Given the description of an element on the screen output the (x, y) to click on. 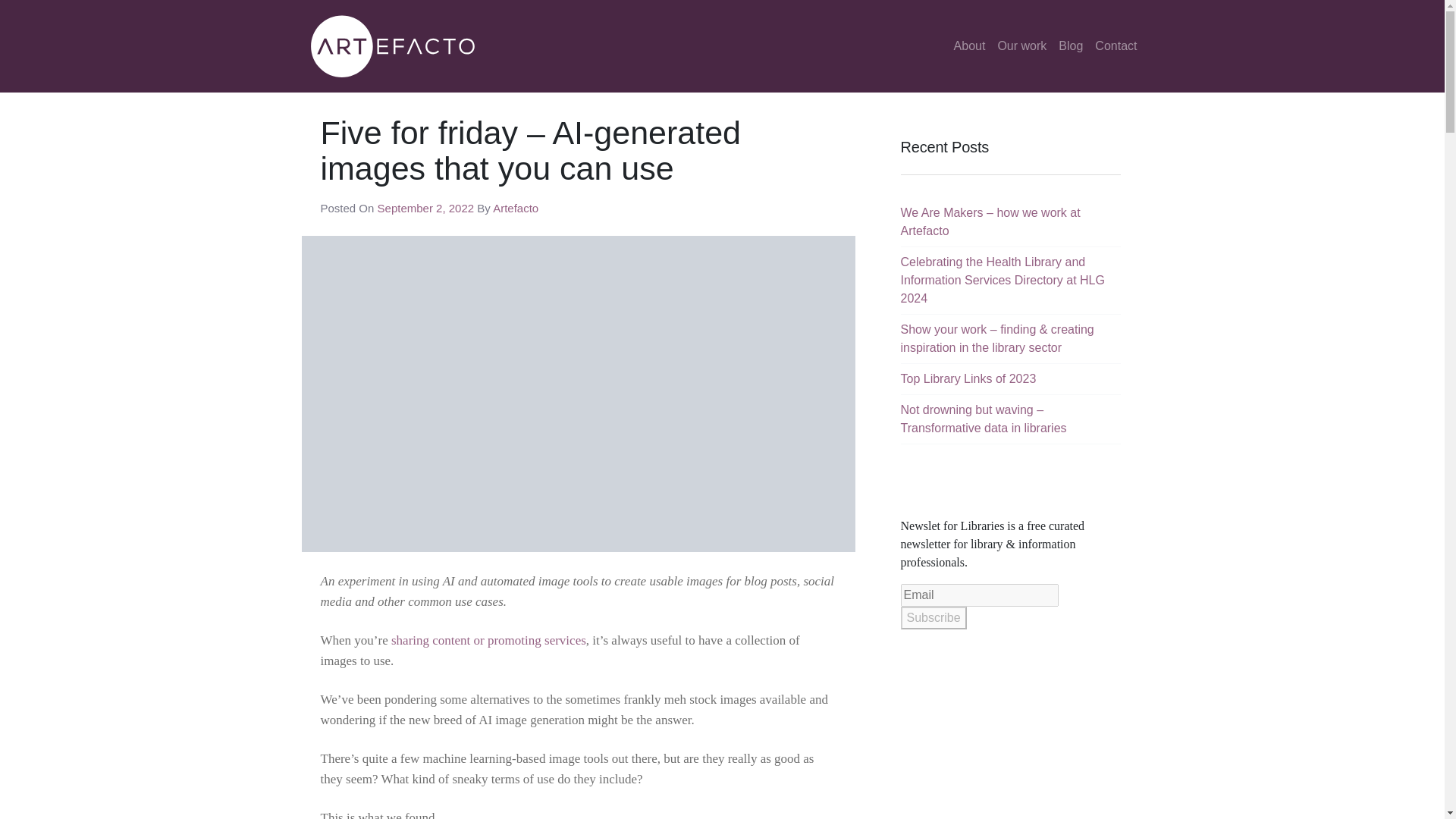
About (969, 46)
Subscribe (933, 617)
Artefacto (515, 207)
Contact (1115, 46)
sharing content or promoting services (488, 640)
Blog (1070, 46)
Top Library Links of 2023 (968, 378)
Contact (1115, 46)
About (969, 46)
Our work (1021, 46)
